Given the description of an element on the screen output the (x, y) to click on. 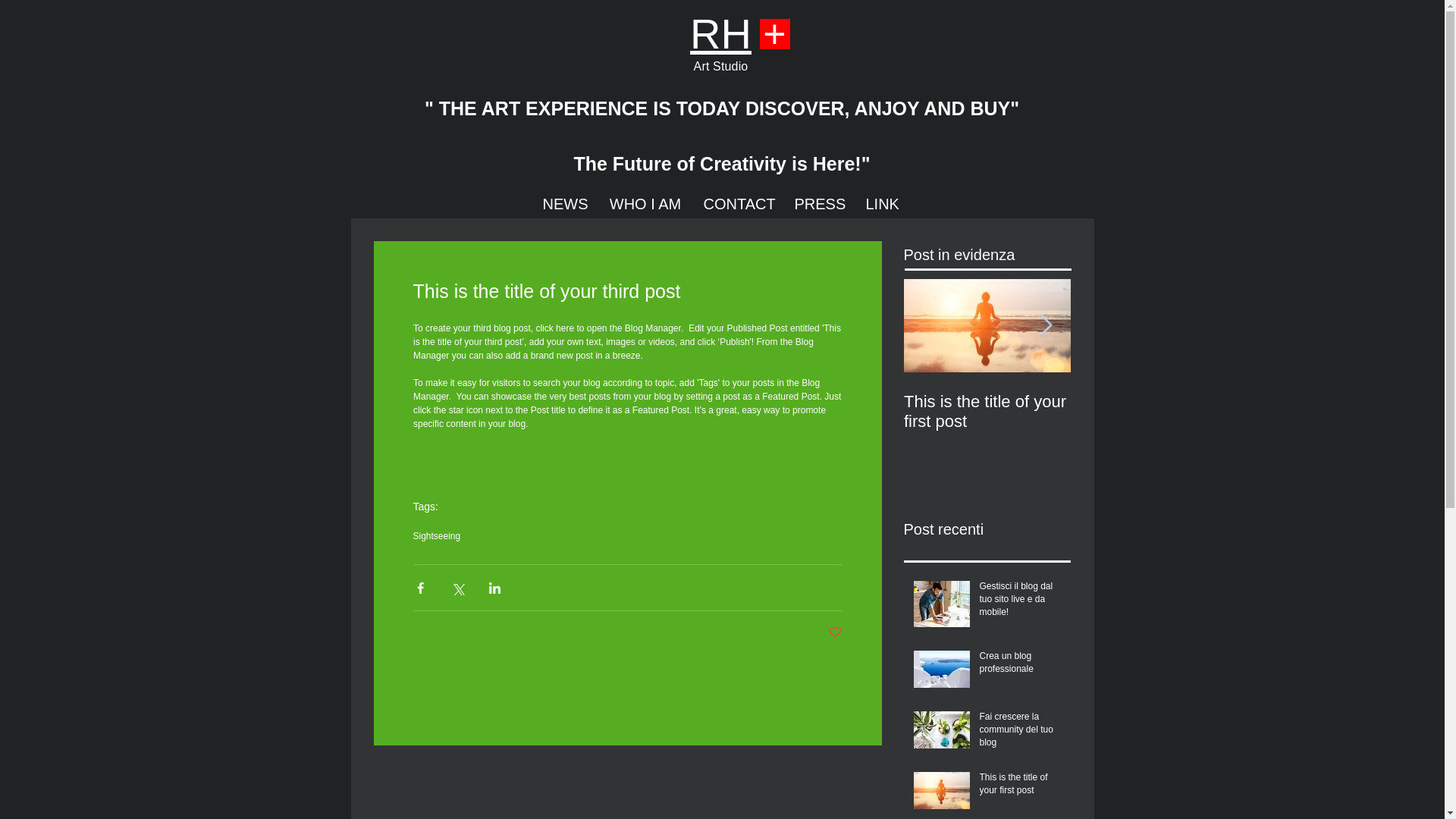
Crea un blog professionale (1020, 665)
Fai crescere la community del tuo blog (1020, 732)
Gestisci il blog dal tuo sito live e da mobile! (1020, 601)
WHO I AM (644, 203)
LINK (883, 203)
This is the title of your first post (1020, 787)
NEWS (565, 203)
Sightseeing (436, 535)
" THE ART EXPERIENCE IS TODAY  (585, 100)
This is the title of your first post (987, 411)
RH (720, 33)
DISCOVER, ANJOY AND BUY" (882, 100)
This is the title of your second post (1153, 411)
CONTACT (738, 203)
